Given the description of an element on the screen output the (x, y) to click on. 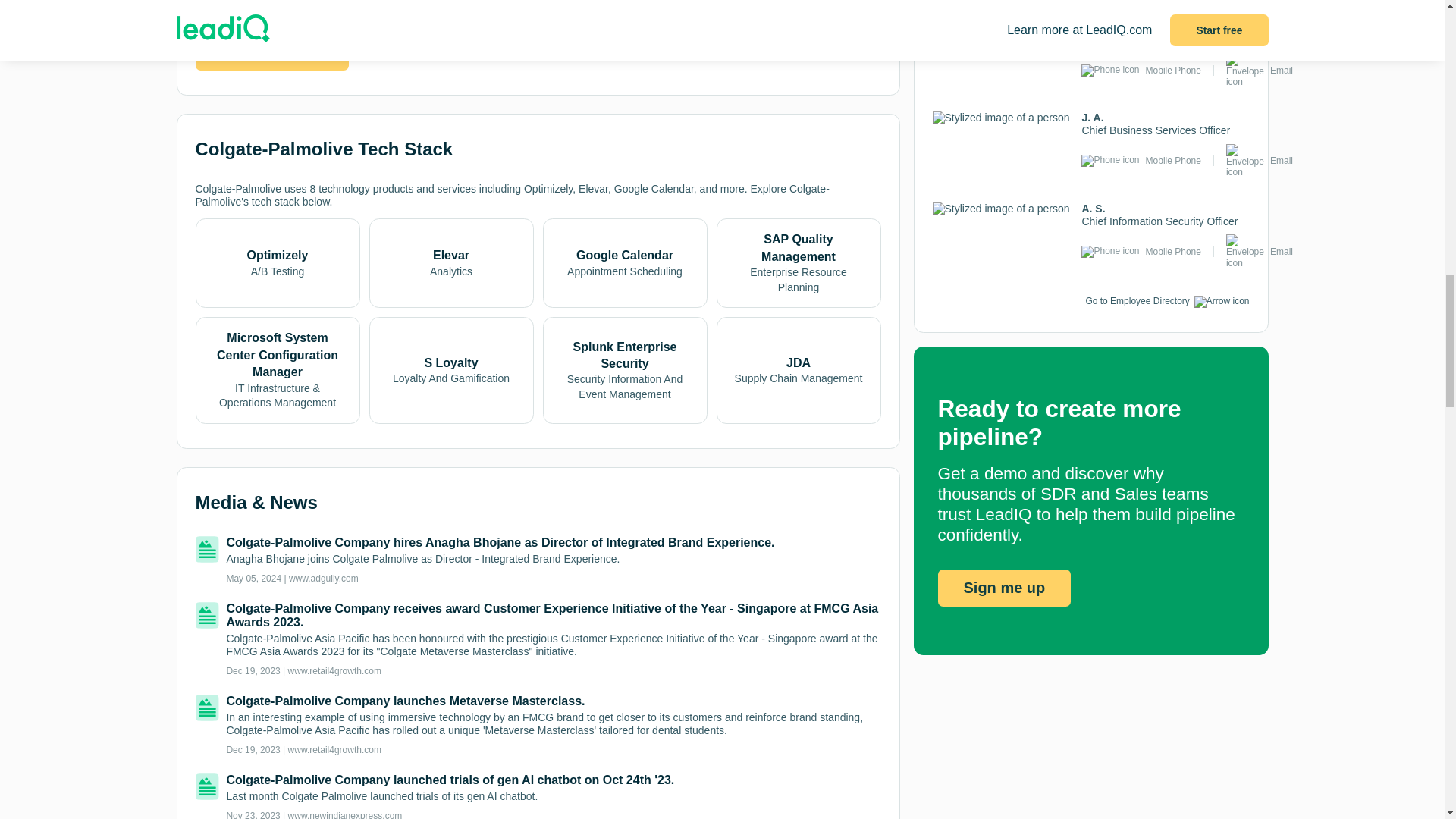
Explore similar companies (272, 54)
Explore similar companies (272, 54)
